Given the description of an element on the screen output the (x, y) to click on. 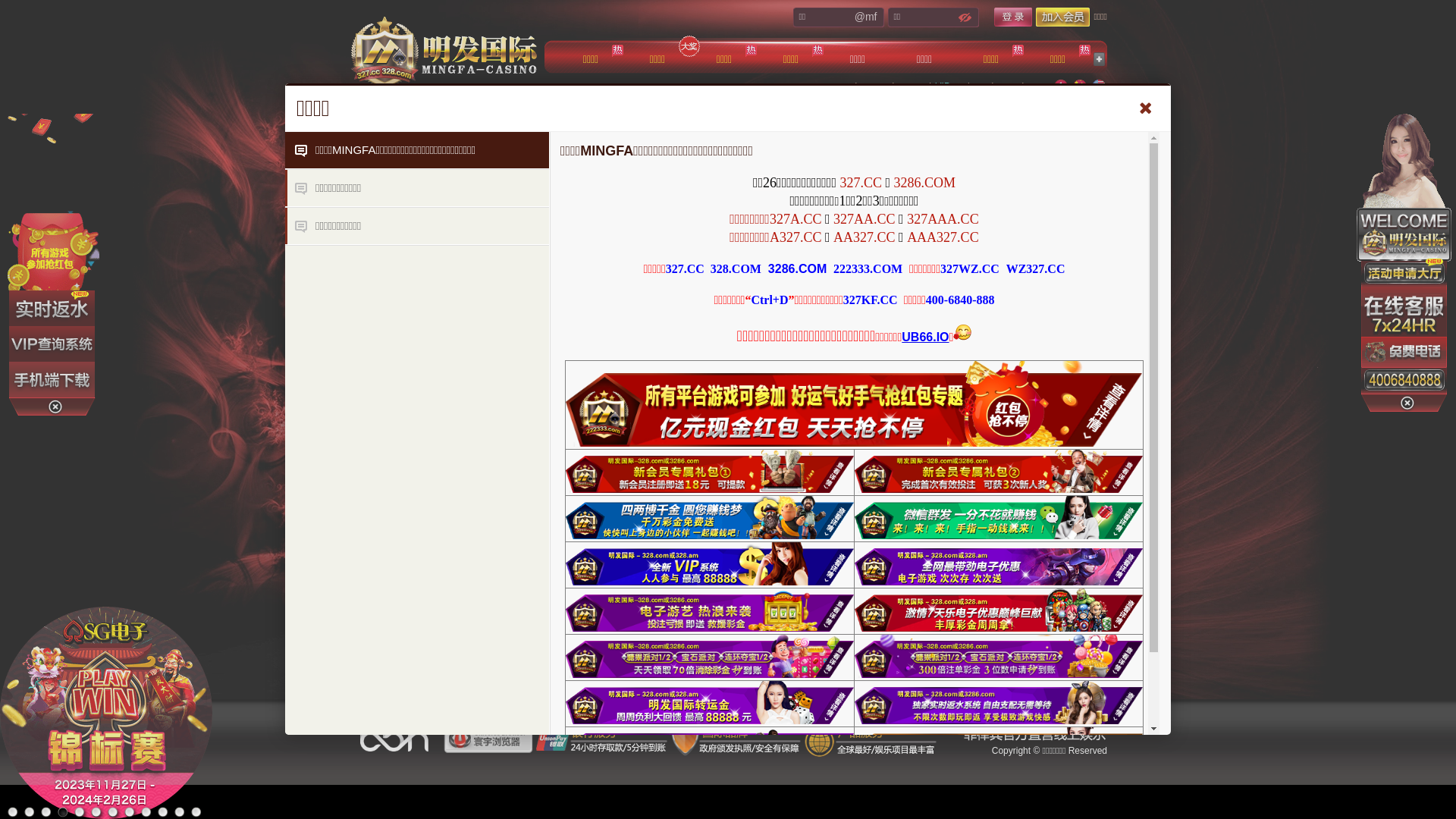
327KF.CC Element type: text (870, 299)
English Element type: hover (1098, 86)
UB66.IO Element type: text (924, 336)
